Given the description of an element on the screen output the (x, y) to click on. 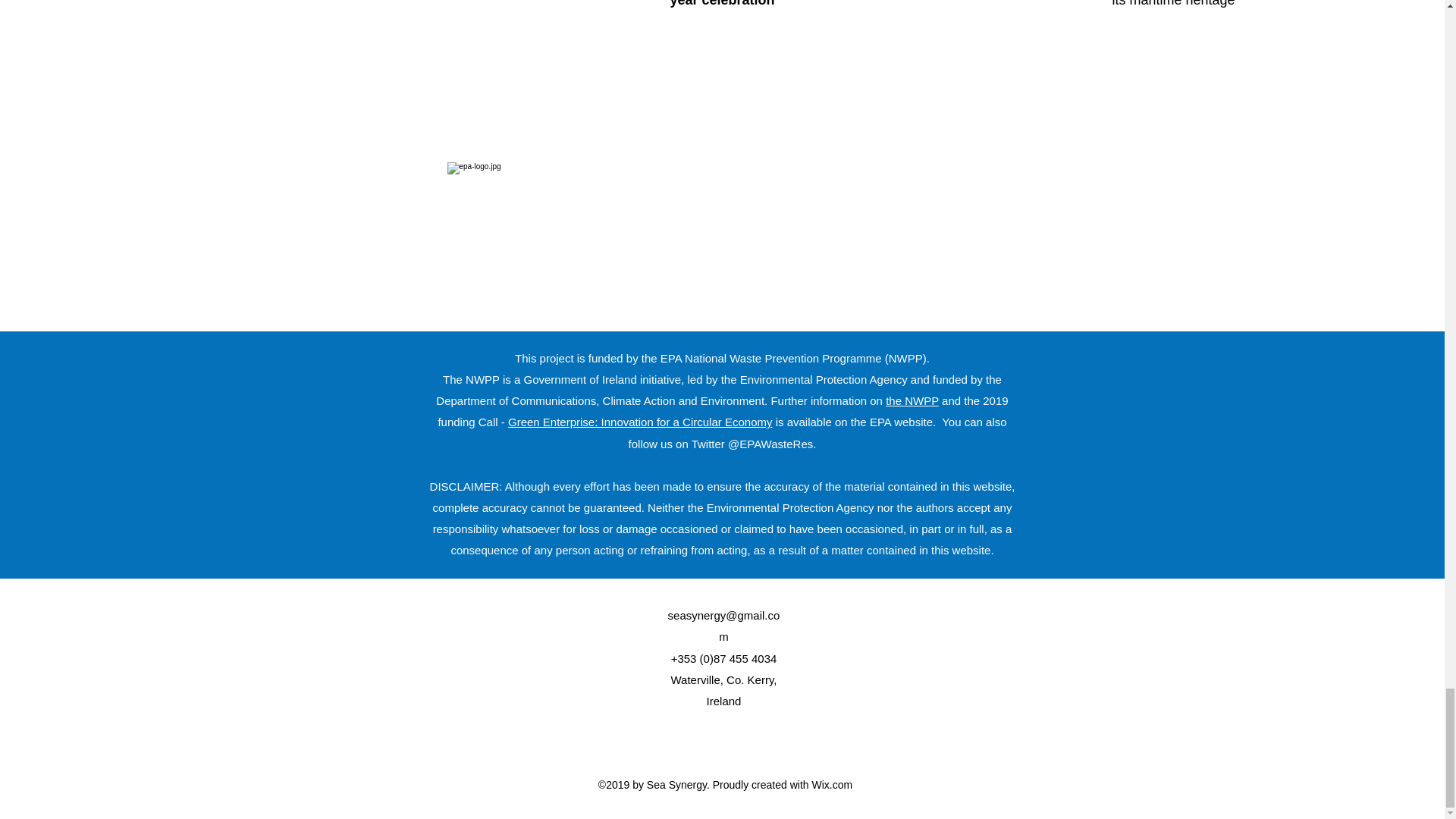
Green Enterprise: Innovation for a Circular Economy (640, 421)
the NWPP (912, 400)
